Given the description of an element on the screen output the (x, y) to click on. 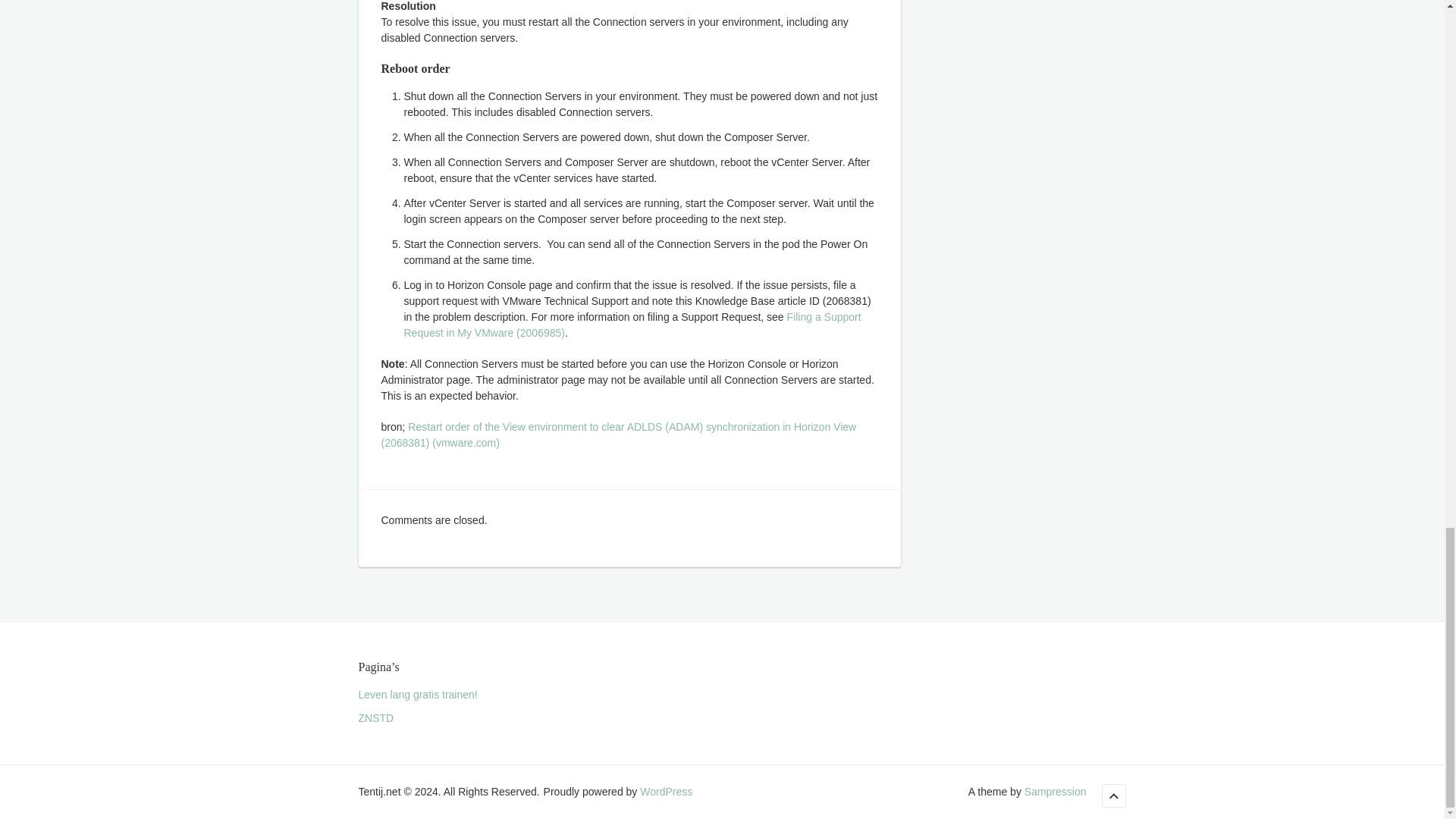
WordPress (666, 791)
WordPress (666, 791)
Sampression (1055, 791)
Sampression (1055, 791)
ZNSTD (375, 717)
Leven lang gratis trainen! (417, 694)
